Given the description of an element on the screen output the (x, y) to click on. 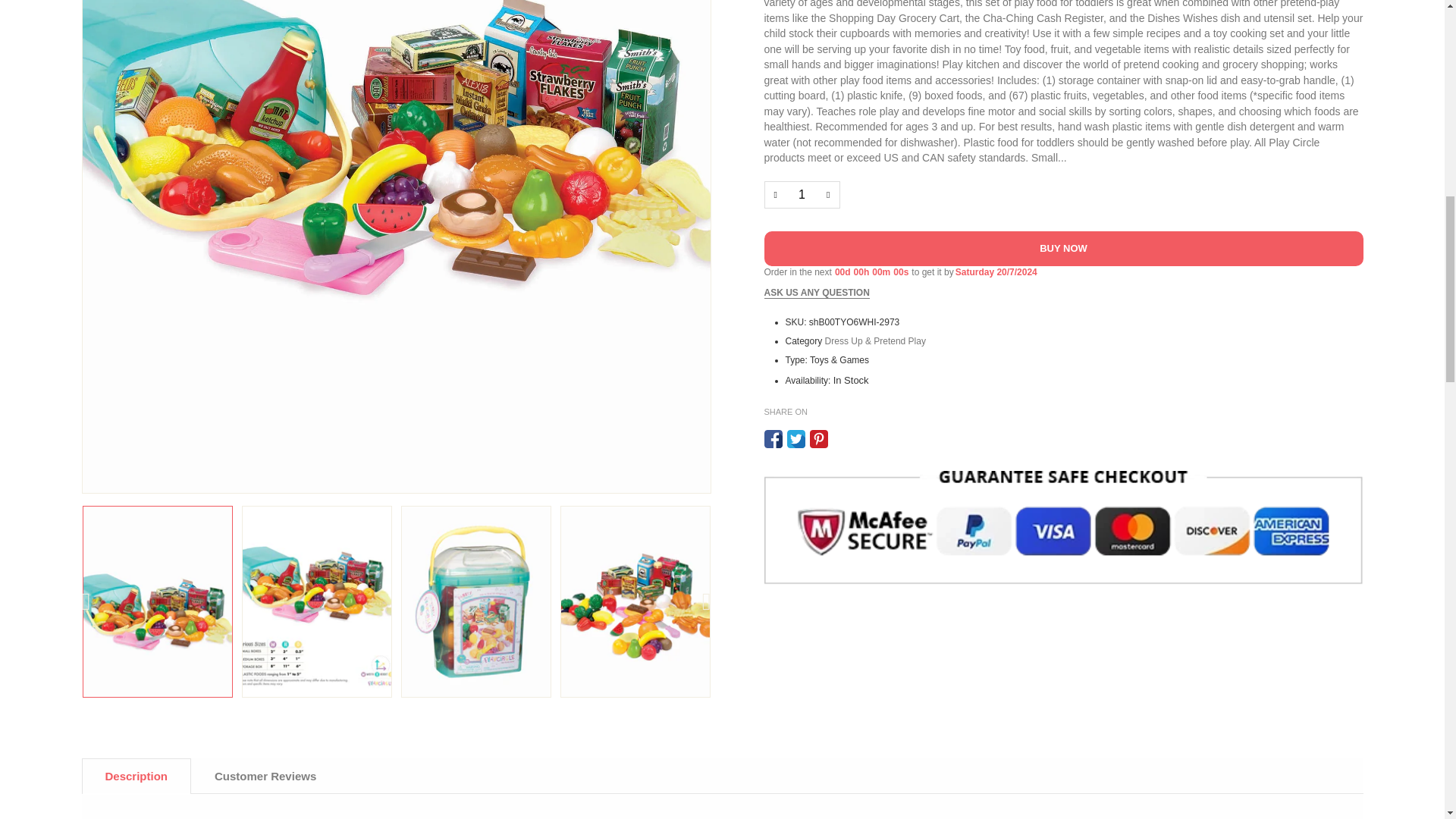
Share on Facebook (773, 438)
BUY NOW (1063, 248)
ASK US ANY QUESTION (816, 292)
Tweet on Twitter (796, 438)
Pin on Pinterest (818, 438)
Customer Reviews (265, 776)
Description (135, 776)
1 (802, 194)
